Given the description of an element on the screen output the (x, y) to click on. 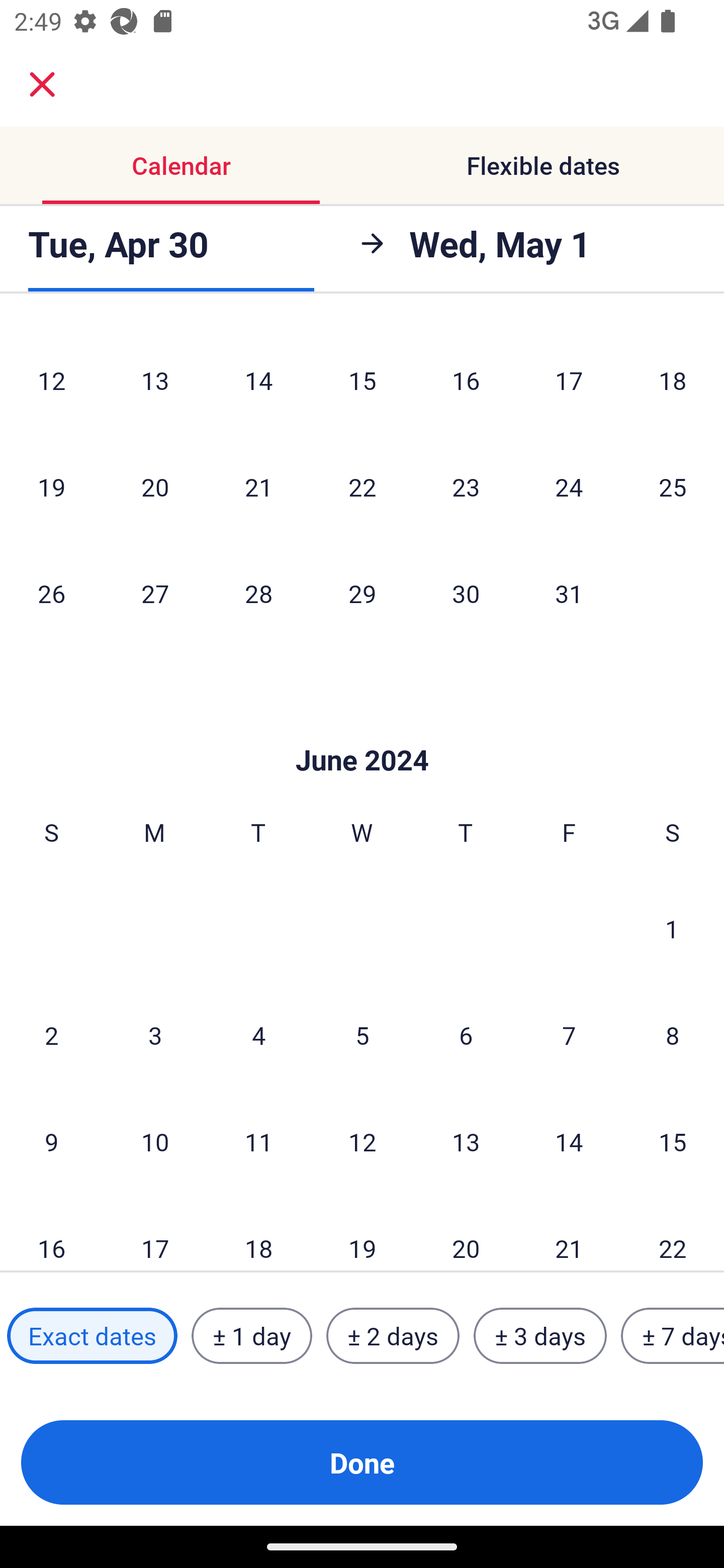
close. (42, 84)
Flexible dates (542, 164)
12 Sunday, May 12, 2024 (51, 380)
13 Monday, May 13, 2024 (155, 380)
14 Tuesday, May 14, 2024 (258, 380)
15 Wednesday, May 15, 2024 (362, 380)
16 Thursday, May 16, 2024 (465, 380)
17 Friday, May 17, 2024 (569, 380)
18 Saturday, May 18, 2024 (672, 380)
19 Sunday, May 19, 2024 (51, 486)
20 Monday, May 20, 2024 (155, 486)
21 Tuesday, May 21, 2024 (258, 486)
22 Wednesday, May 22, 2024 (362, 486)
23 Thursday, May 23, 2024 (465, 486)
24 Friday, May 24, 2024 (569, 486)
25 Saturday, May 25, 2024 (672, 486)
26 Sunday, May 26, 2024 (51, 593)
27 Monday, May 27, 2024 (155, 593)
28 Tuesday, May 28, 2024 (258, 593)
29 Wednesday, May 29, 2024 (362, 593)
30 Thursday, May 30, 2024 (465, 593)
31 Friday, May 31, 2024 (569, 593)
Skip to Done (362, 730)
1 Saturday, June 1, 2024 (672, 928)
2 Sunday, June 2, 2024 (51, 1034)
3 Monday, June 3, 2024 (155, 1034)
4 Tuesday, June 4, 2024 (258, 1034)
5 Wednesday, June 5, 2024 (362, 1034)
6 Thursday, June 6, 2024 (465, 1034)
7 Friday, June 7, 2024 (569, 1034)
8 Saturday, June 8, 2024 (672, 1034)
9 Sunday, June 9, 2024 (51, 1141)
10 Monday, June 10, 2024 (155, 1141)
11 Tuesday, June 11, 2024 (258, 1141)
12 Wednesday, June 12, 2024 (362, 1141)
13 Thursday, June 13, 2024 (465, 1141)
14 Friday, June 14, 2024 (569, 1141)
15 Saturday, June 15, 2024 (672, 1141)
16 Sunday, June 16, 2024 (51, 1233)
17 Monday, June 17, 2024 (155, 1233)
18 Tuesday, June 18, 2024 (258, 1233)
19 Wednesday, June 19, 2024 (362, 1233)
20 Thursday, June 20, 2024 (465, 1233)
21 Friday, June 21, 2024 (569, 1233)
22 Saturday, June 22, 2024 (672, 1233)
Exact dates (92, 1335)
± 1 day (251, 1335)
± 2 days (392, 1335)
± 3 days (539, 1335)
± 7 days (672, 1335)
Done (361, 1462)
